Given the description of an element on the screen output the (x, y) to click on. 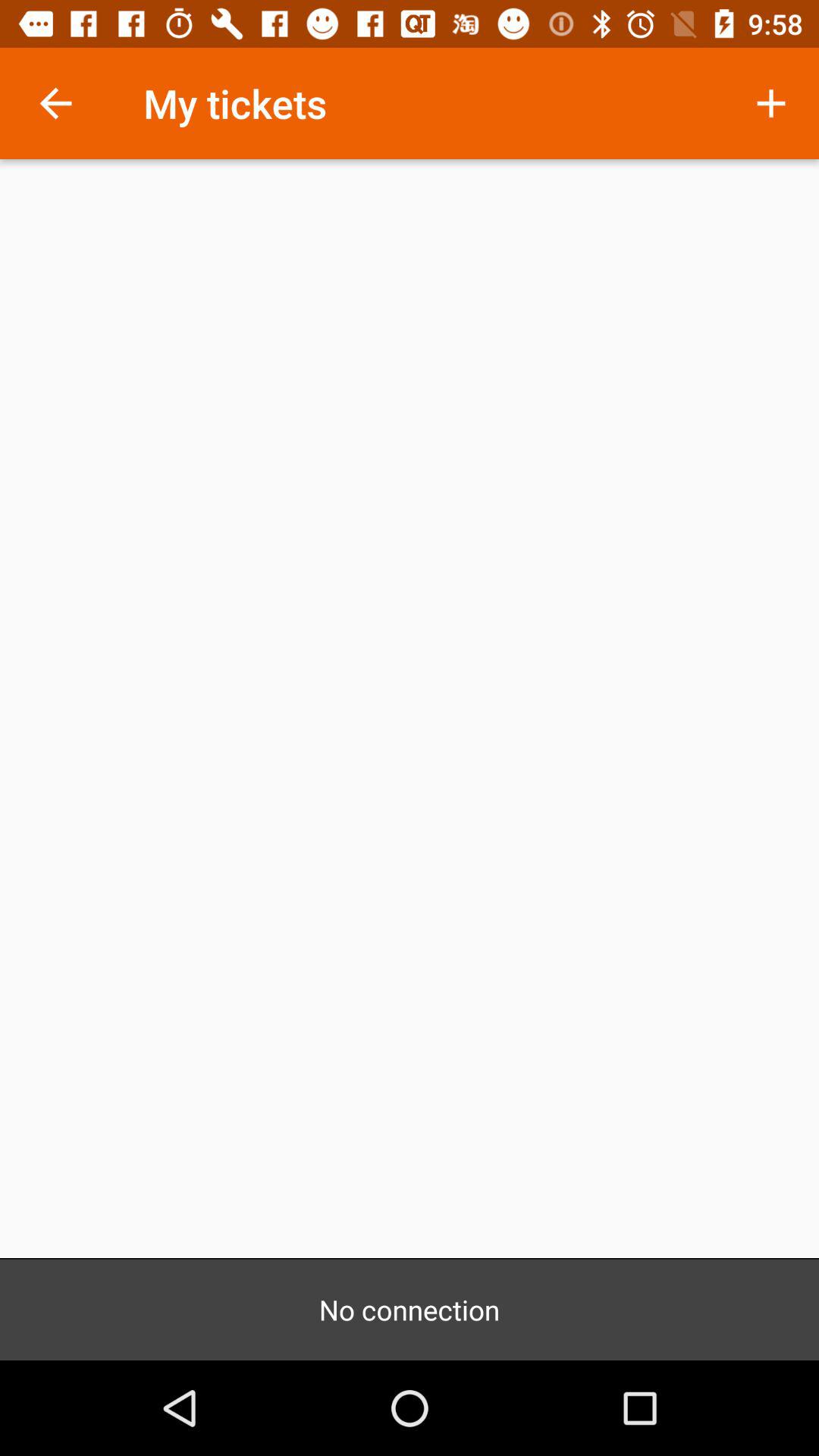
choose icon to the right of the my tickets item (771, 103)
